Given the description of an element on the screen output the (x, y) to click on. 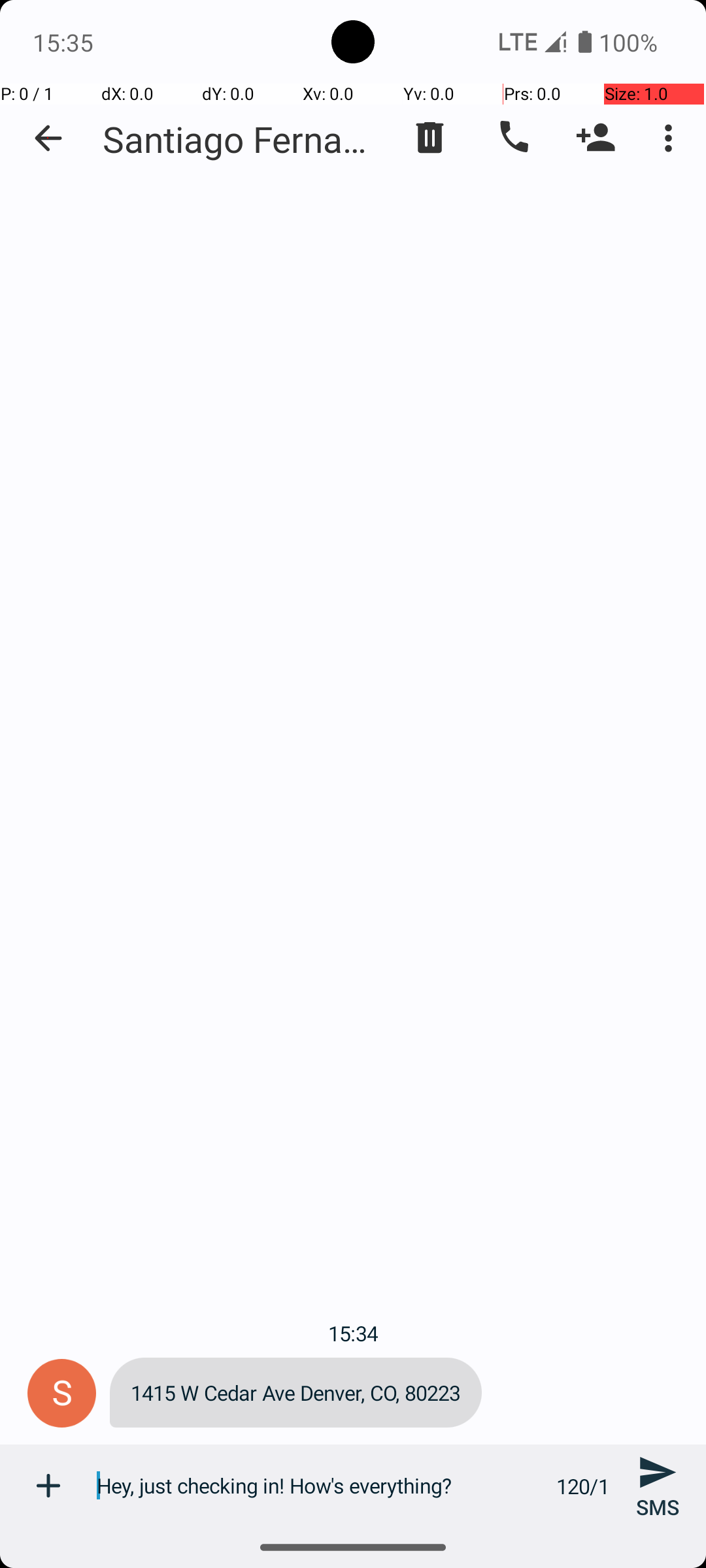
Santiago Fernandez Element type: android.widget.TextView (241, 138)
Hey, just checking in! How's everything? Element type: android.widget.EditText (318, 1485)
120/1 Element type: android.widget.TextView (582, 1485)
1415 W Cedar Ave Denver, CO, 80223 Element type: android.widget.TextView (295, 1392)
